Given the description of an element on the screen output the (x, y) to click on. 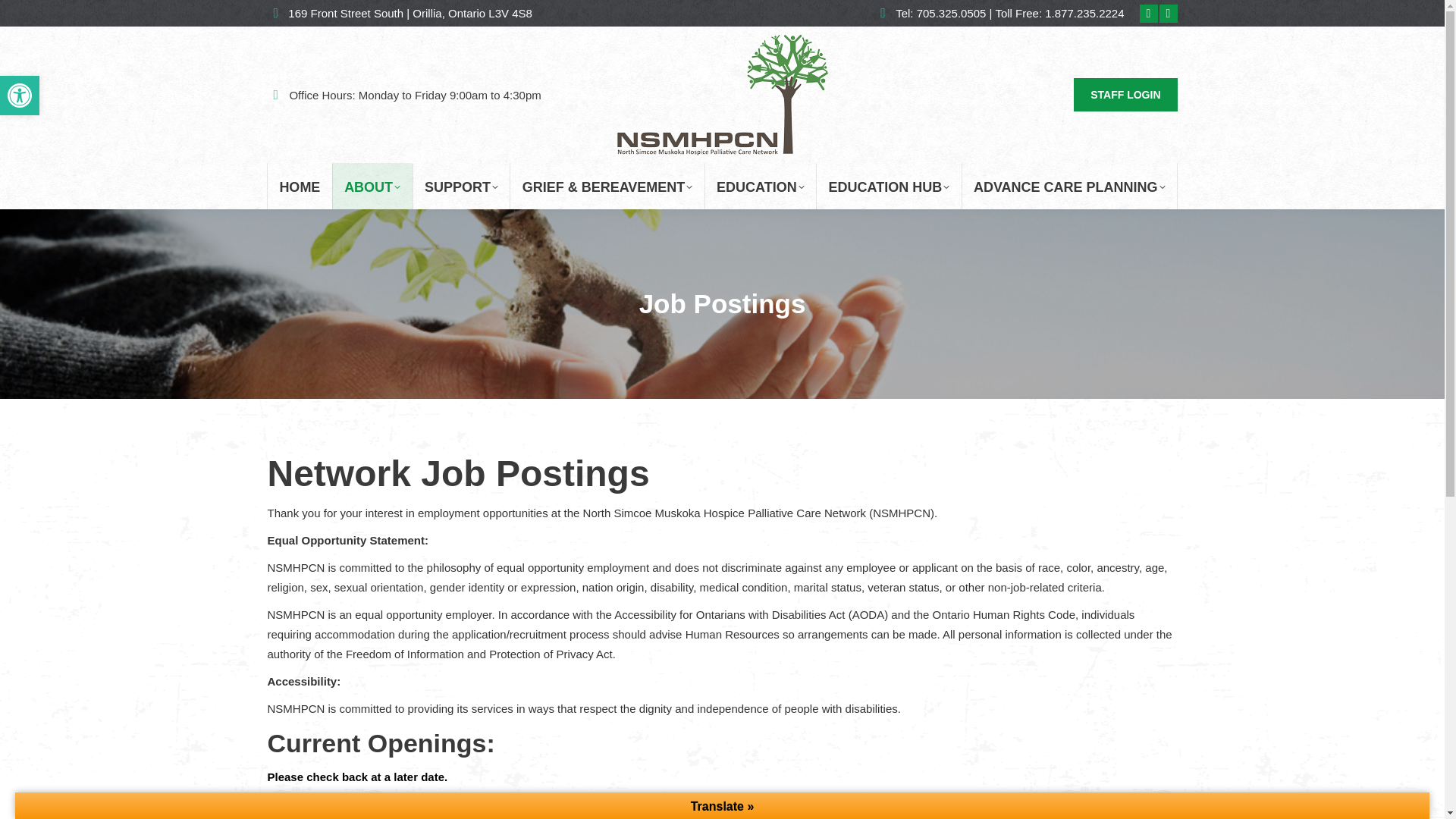
HOME (298, 185)
X page opens in new window (19, 95)
ABOUT (1167, 13)
STAFF LOGIN (371, 185)
X page opens in new window (1125, 94)
Accessibility (1167, 13)
Facebook page opens in new window (19, 95)
SUPPORT (1148, 13)
Facebook page opens in new window (461, 185)
Accessibility (1148, 13)
